Given the description of an element on the screen output the (x, y) to click on. 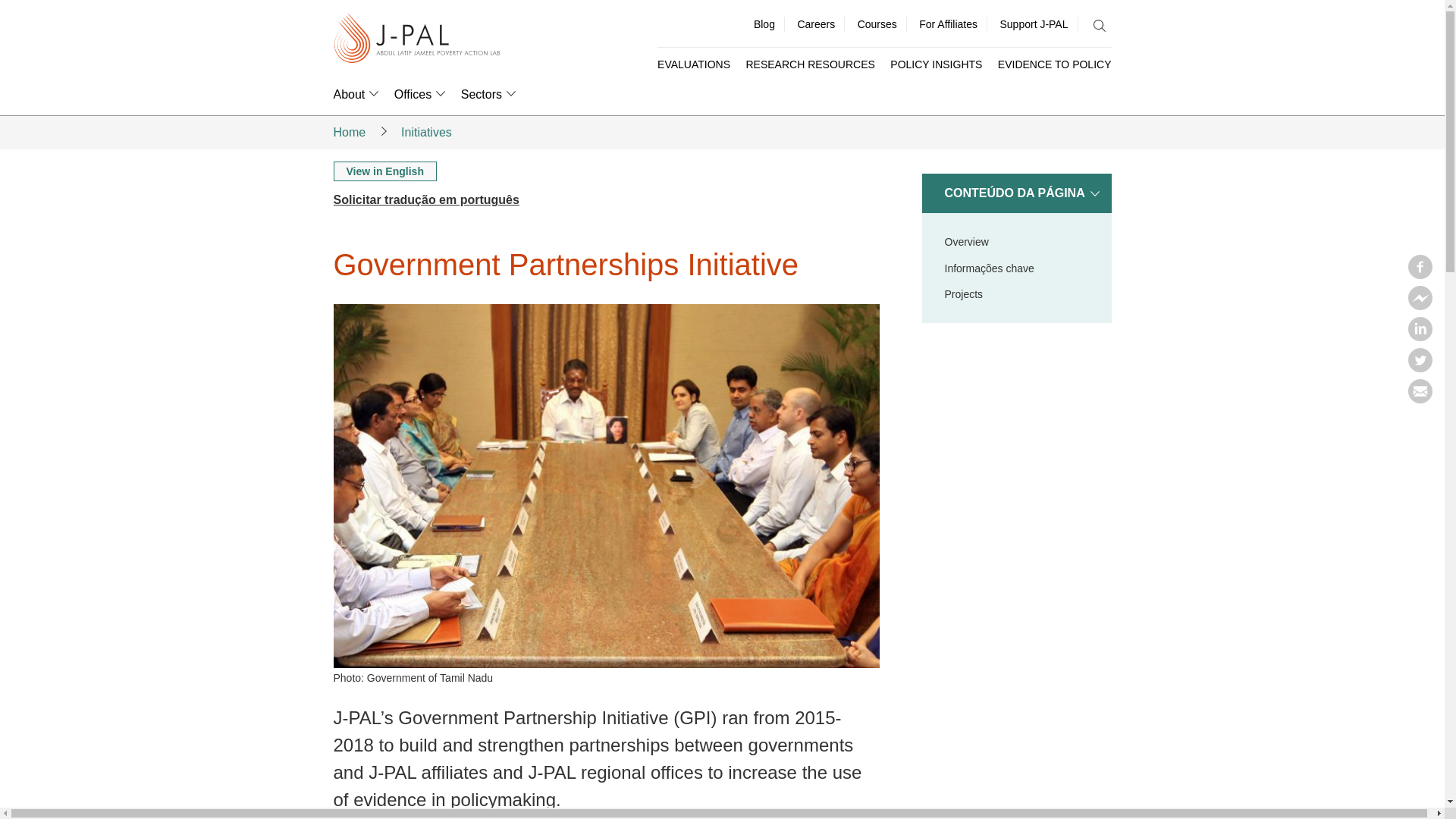
Twitter (1419, 367)
J-PAL (416, 39)
Email (1419, 399)
Facebook (1419, 274)
Facebook messenger (1419, 305)
Linkedin (1419, 336)
